Given the description of an element on the screen output the (x, y) to click on. 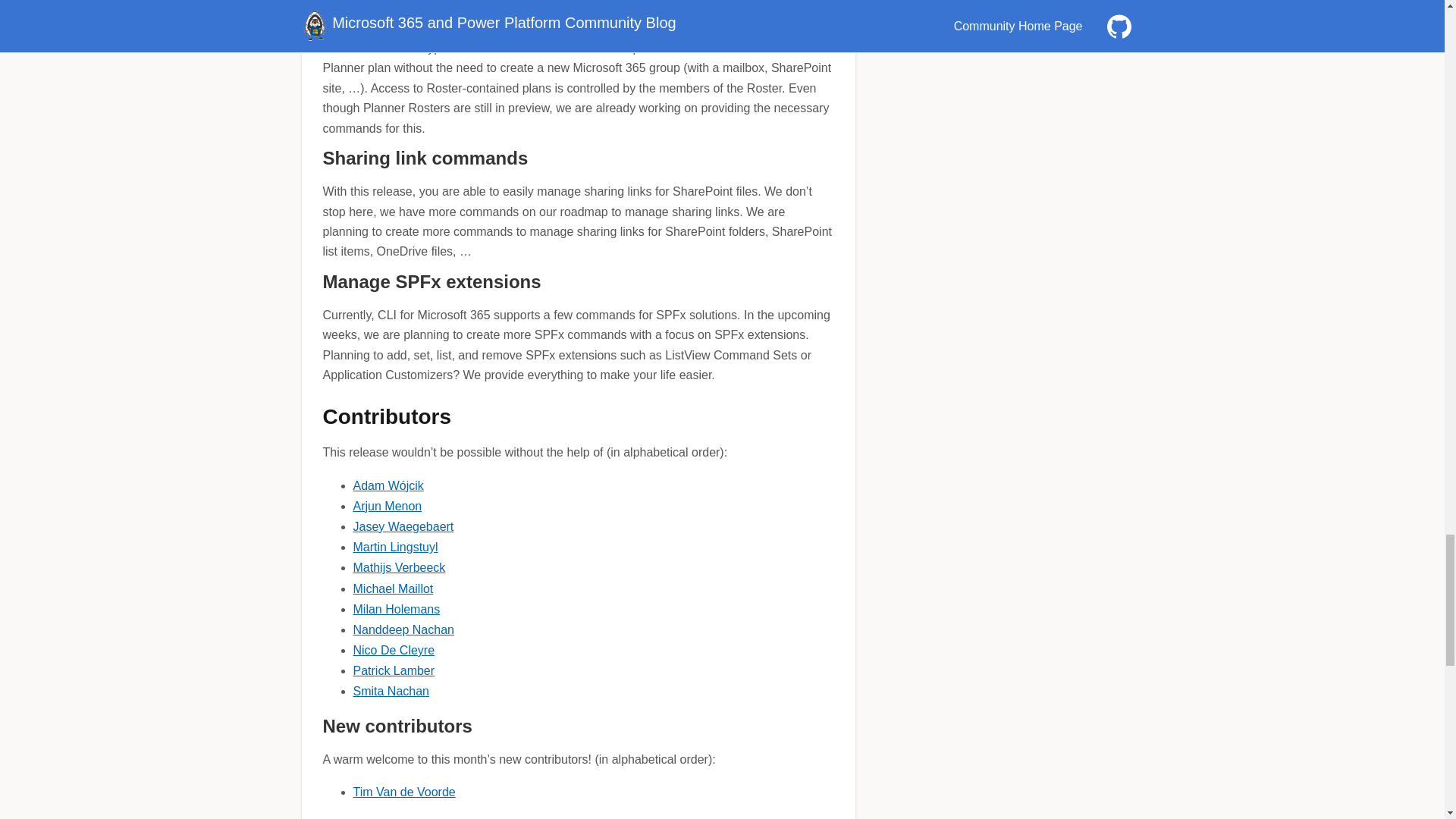
Michael Maillot (393, 588)
Smita Nachan (391, 690)
Nanddeep Nachan (403, 629)
Martin Lingstuyl (395, 546)
Milan Holemans (397, 608)
Nico De Cleyre (394, 649)
Mathijs Verbeeck (399, 567)
Jasey Waegebaert (403, 526)
Arjun Menon (387, 505)
Patrick Lamber (394, 670)
